Given the description of an element on the screen output the (x, y) to click on. 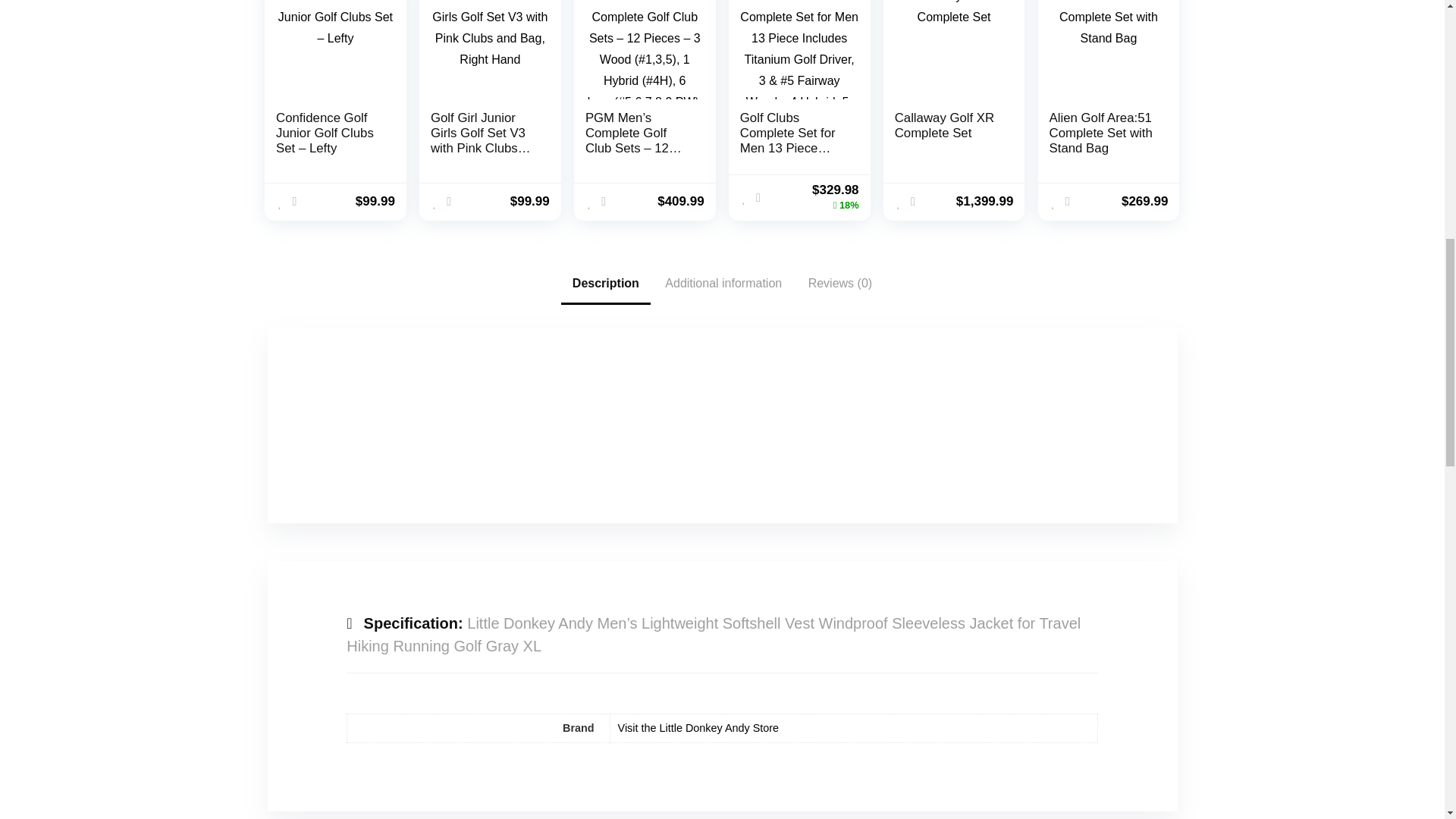
Callaway Golf XR Complete Set (944, 125)
